Given the description of an element on the screen output the (x, y) to click on. 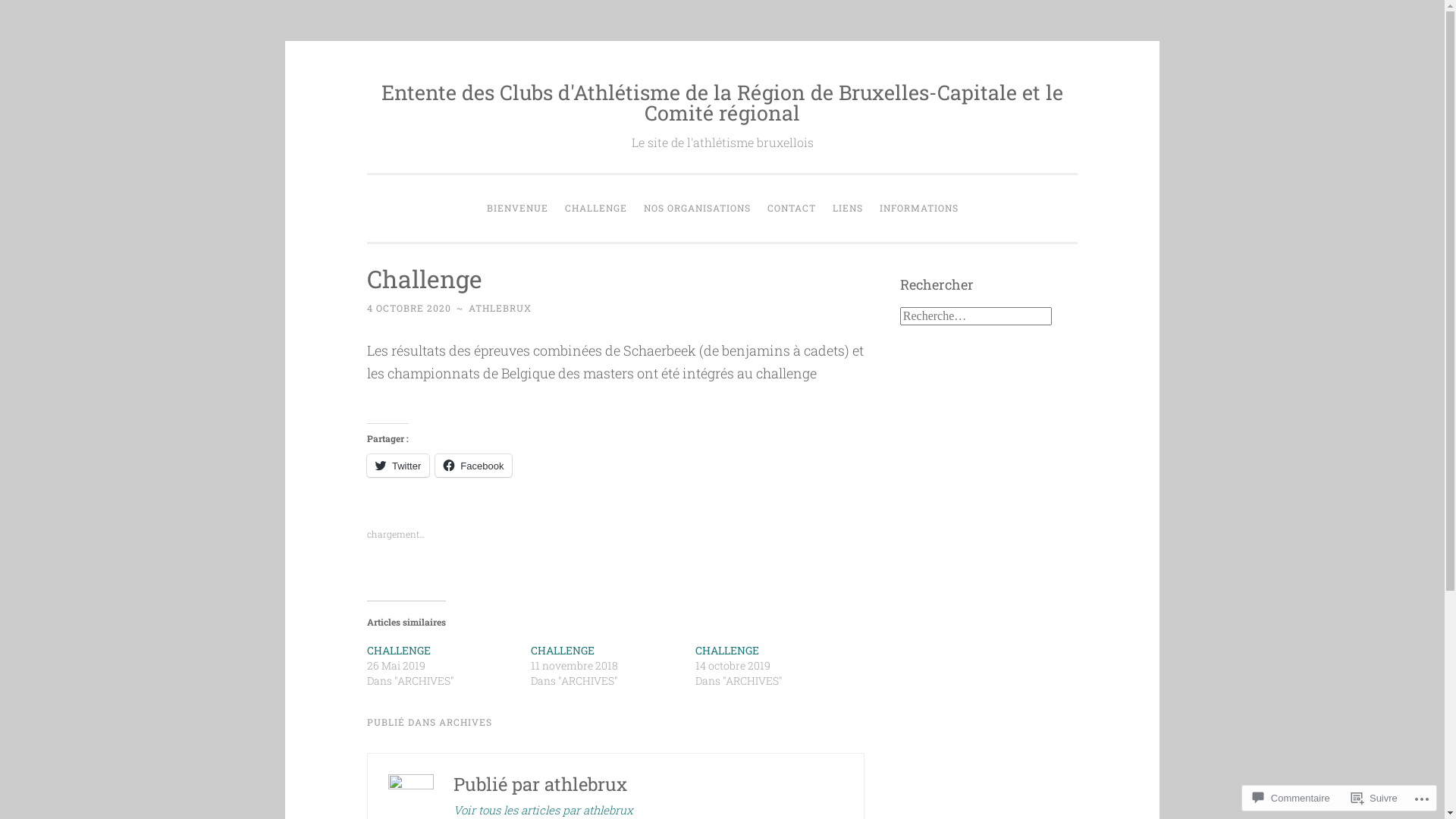
BIENVENUE Element type: text (516, 208)
LIENS Element type: text (847, 208)
CHALLENGE Element type: text (595, 208)
Twitter Element type: text (398, 465)
Aimer ou rebloguer Element type: hover (615, 531)
Rechercher Element type: text (33, 9)
CONTACT Element type: text (790, 208)
Facebook Element type: text (473, 465)
INFORMATIONS Element type: text (918, 208)
4 OCTOBRE 2020 Element type: text (409, 307)
NOS ORGANISATIONS Element type: text (697, 208)
ATHLEBRUX Element type: text (499, 307)
CHALLENGE Element type: text (398, 650)
CHALLENGE Element type: text (562, 650)
ARCHIVES Element type: text (465, 721)
Commentaire Element type: text (1291, 797)
Suivre Element type: text (1374, 797)
CHALLENGE Element type: text (727, 650)
